Given the description of an element on the screen output the (x, y) to click on. 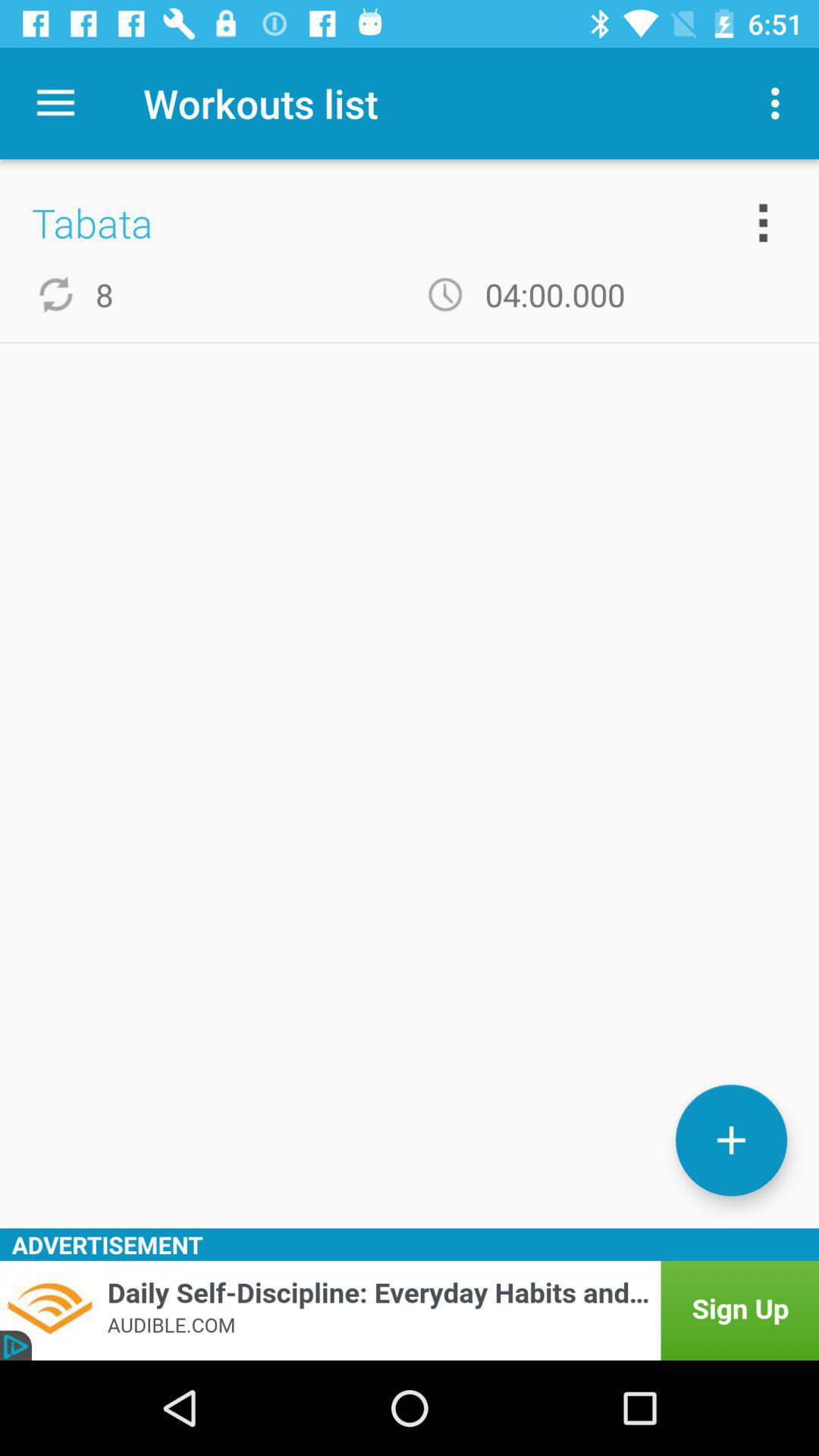
open advertisement for audible (409, 1310)
